Given the description of an element on the screen output the (x, y) to click on. 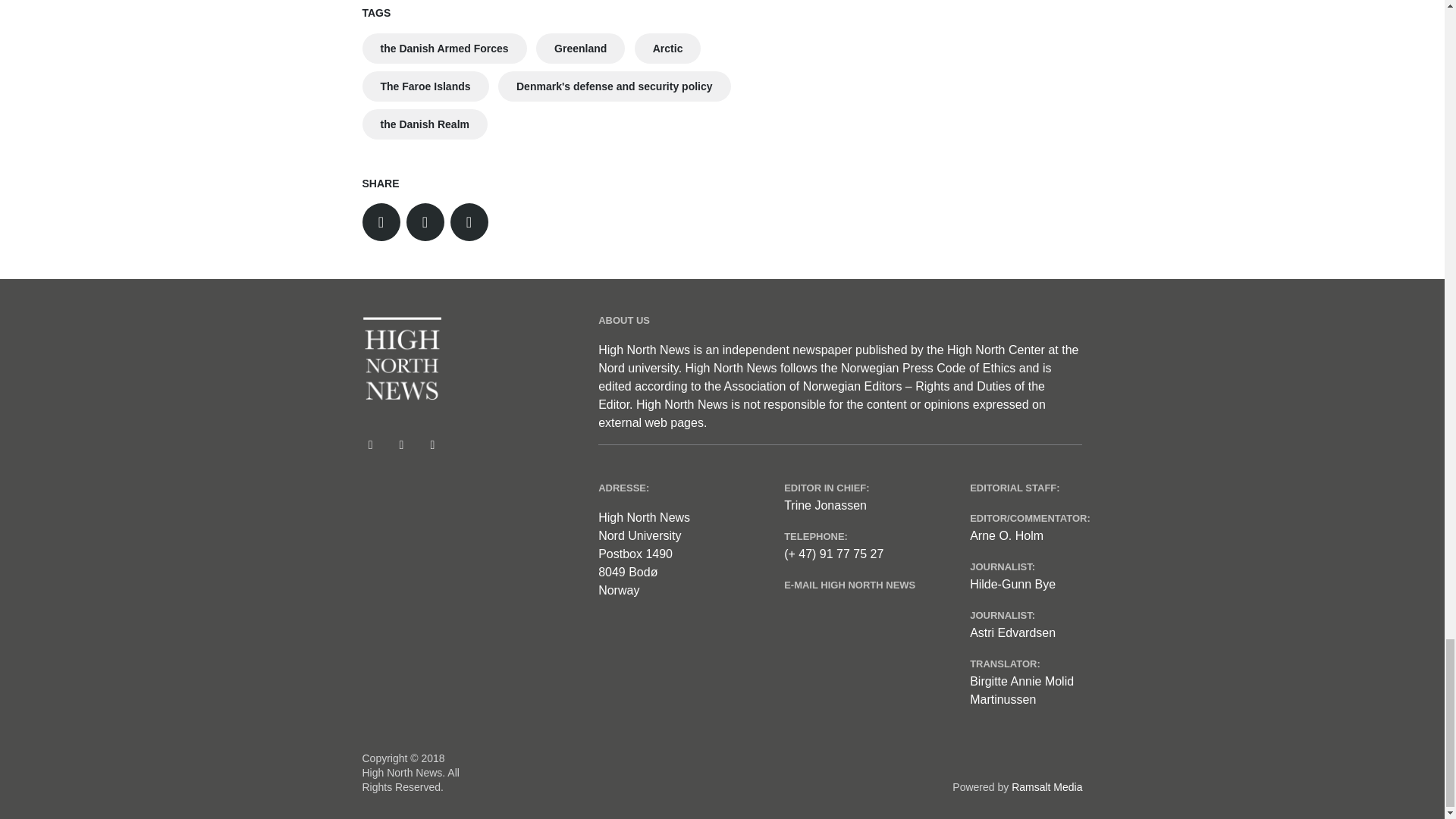
Arctic (667, 48)
Share on Twitter (381, 221)
Send by email (468, 221)
the Danish Armed Forces (444, 48)
Greenland (579, 48)
The Faroe Islands (425, 86)
Denmark's defense and security policy (613, 86)
Share on Facebook (425, 221)
the Danish Realm (424, 123)
